Given the description of an element on the screen output the (x, y) to click on. 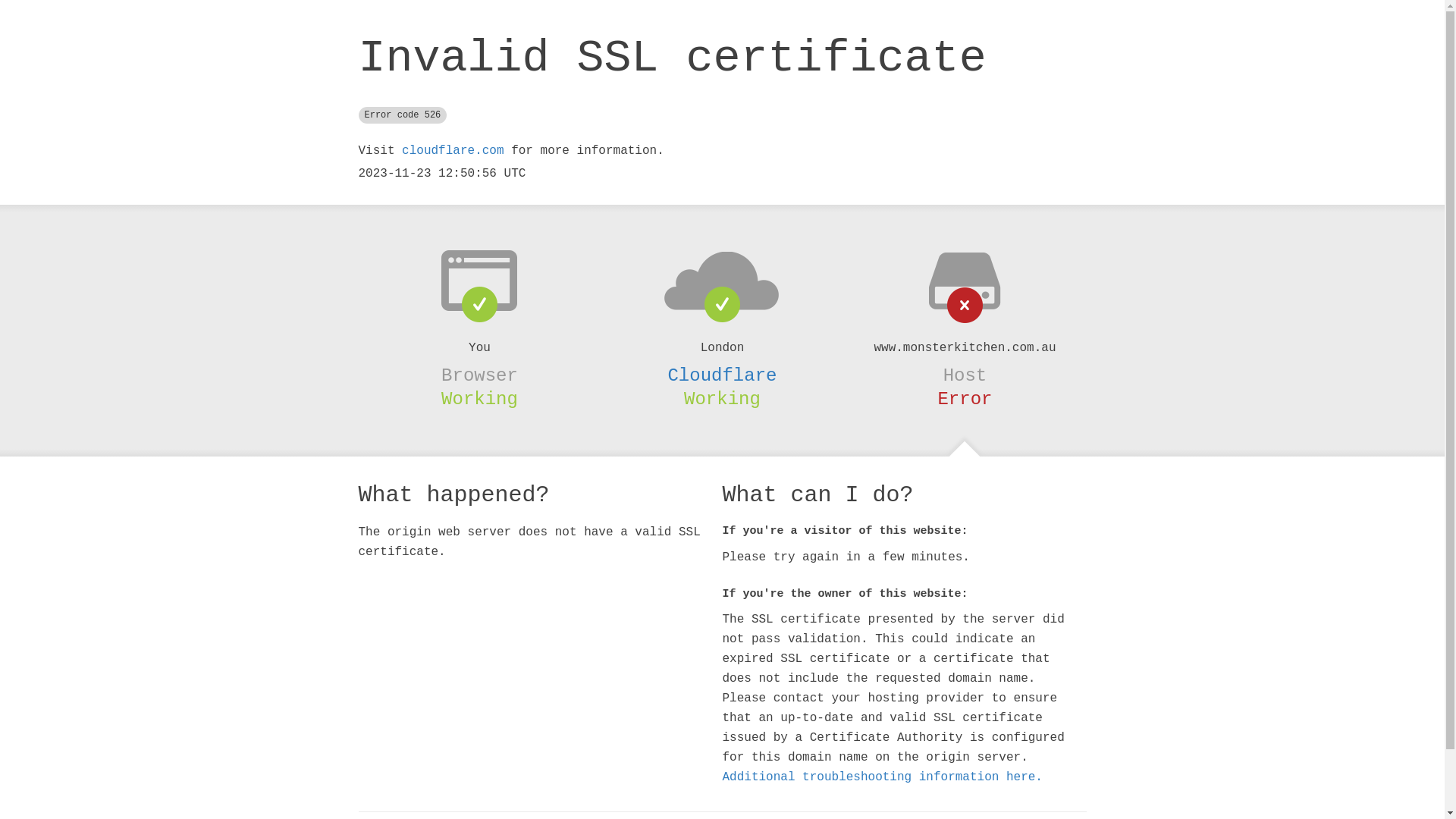
Cloudflare Element type: text (721, 375)
cloudflare.com Element type: text (452, 150)
Additional troubleshooting information here. Element type: text (881, 777)
